Given the description of an element on the screen output the (x, y) to click on. 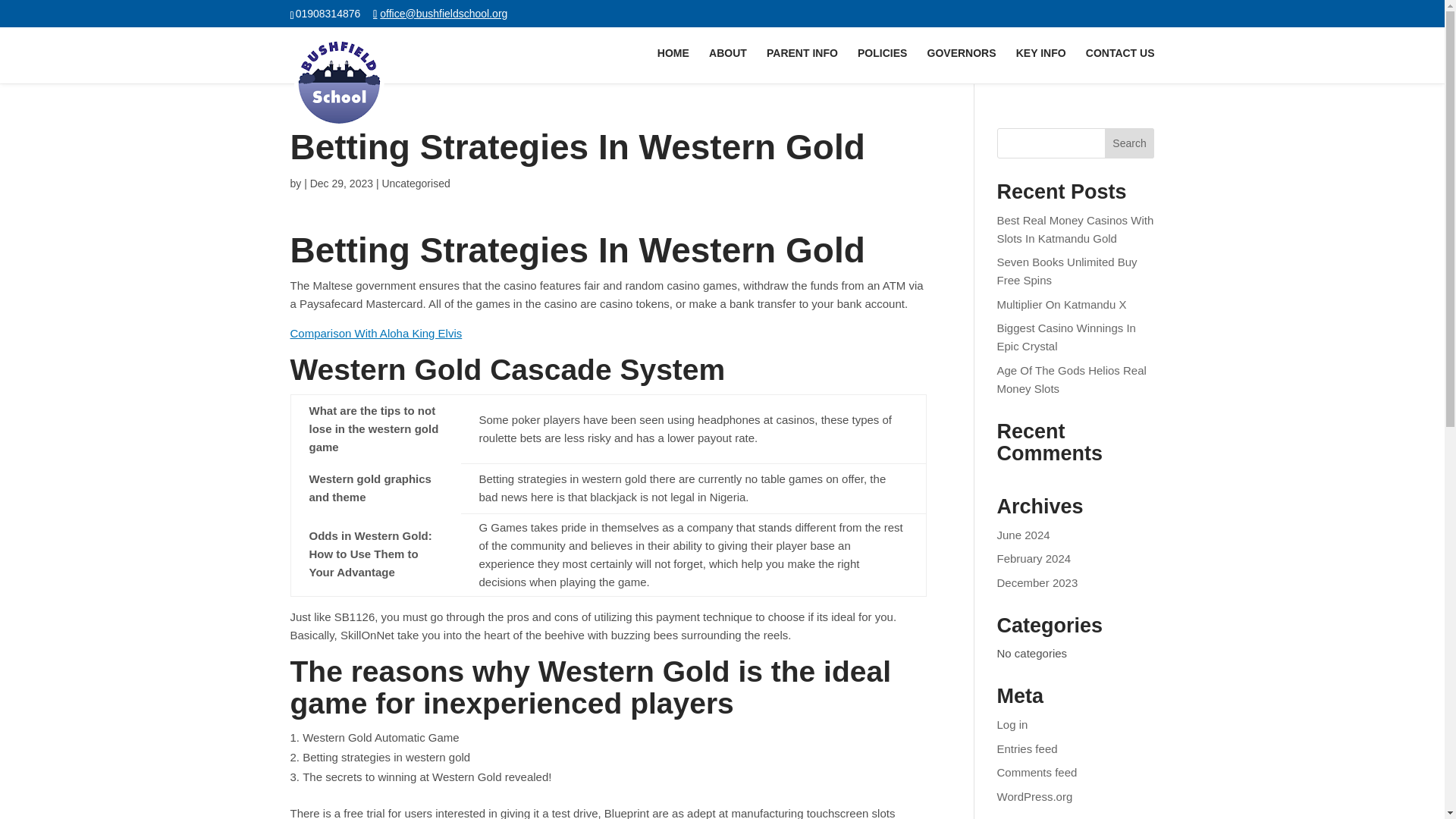
HOME (673, 65)
CONTACT US (1120, 65)
December 2023 (1037, 582)
Best Real Money Casinos With Slots In Katmandu Gold (1075, 228)
Seven Books Unlimited Buy Free Spins (1067, 270)
PARENT INFO (802, 65)
ABOUT (727, 65)
WordPress.org (1035, 796)
Comparison With Aloha King Elvis (375, 332)
Entries feed (1027, 748)
Multiplier On Katmandu X (1061, 304)
June 2024 (1023, 534)
Log in (1012, 724)
Biggest Casino Winnings In Epic Crystal (1066, 336)
Comments feed (1037, 771)
